Given the description of an element on the screen output the (x, y) to click on. 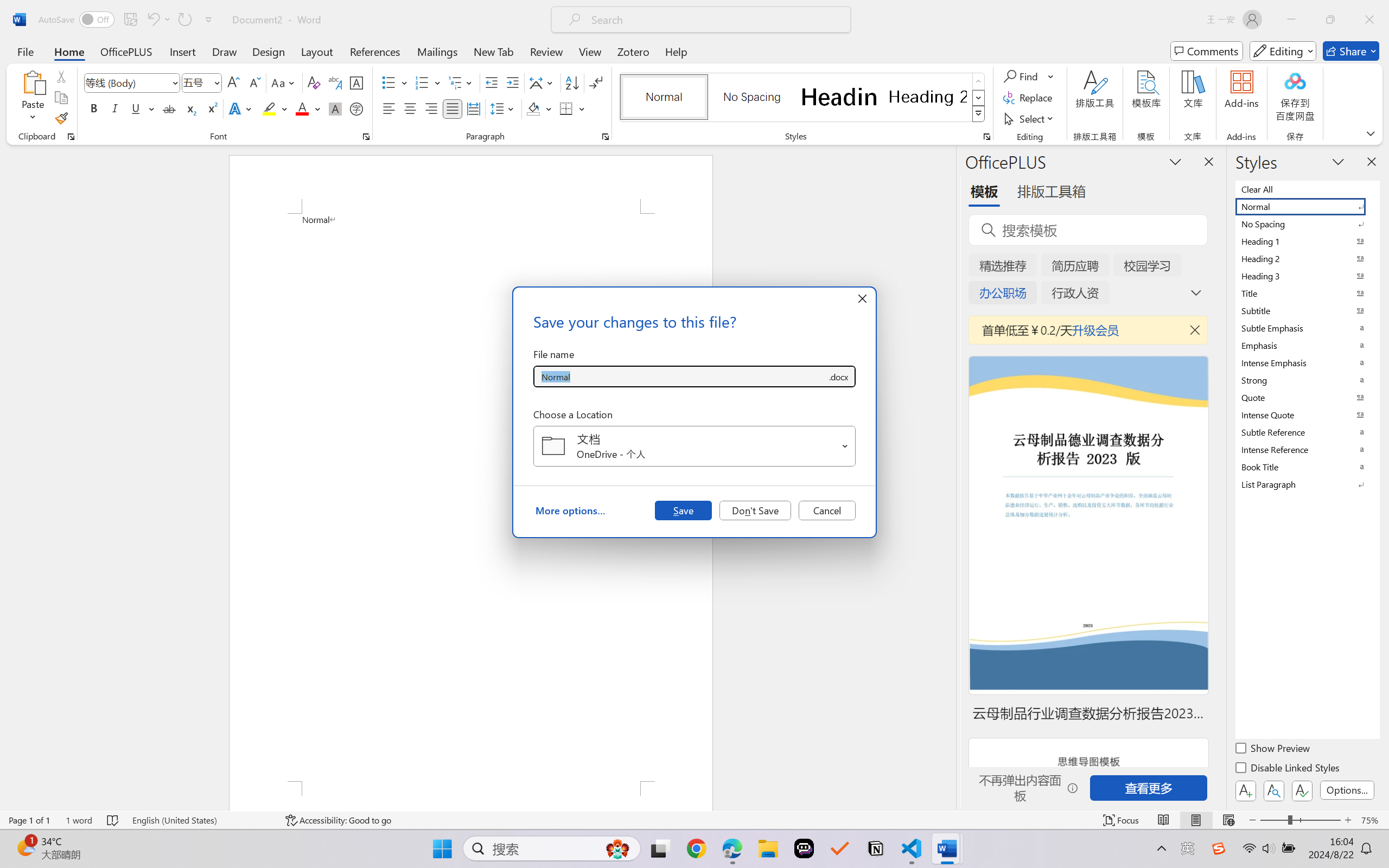
Class: NetUIButton (1301, 790)
Restore Down (1330, 19)
Subtle Emphasis (1306, 327)
Font (132, 82)
Mailings (437, 51)
Copy (60, 97)
Text Highlight Color Yellow (269, 108)
Cancel (826, 509)
Row Down (978, 97)
File Tab (24, 51)
Center (409, 108)
Comments (1206, 50)
